Given the description of an element on the screen output the (x, y) to click on. 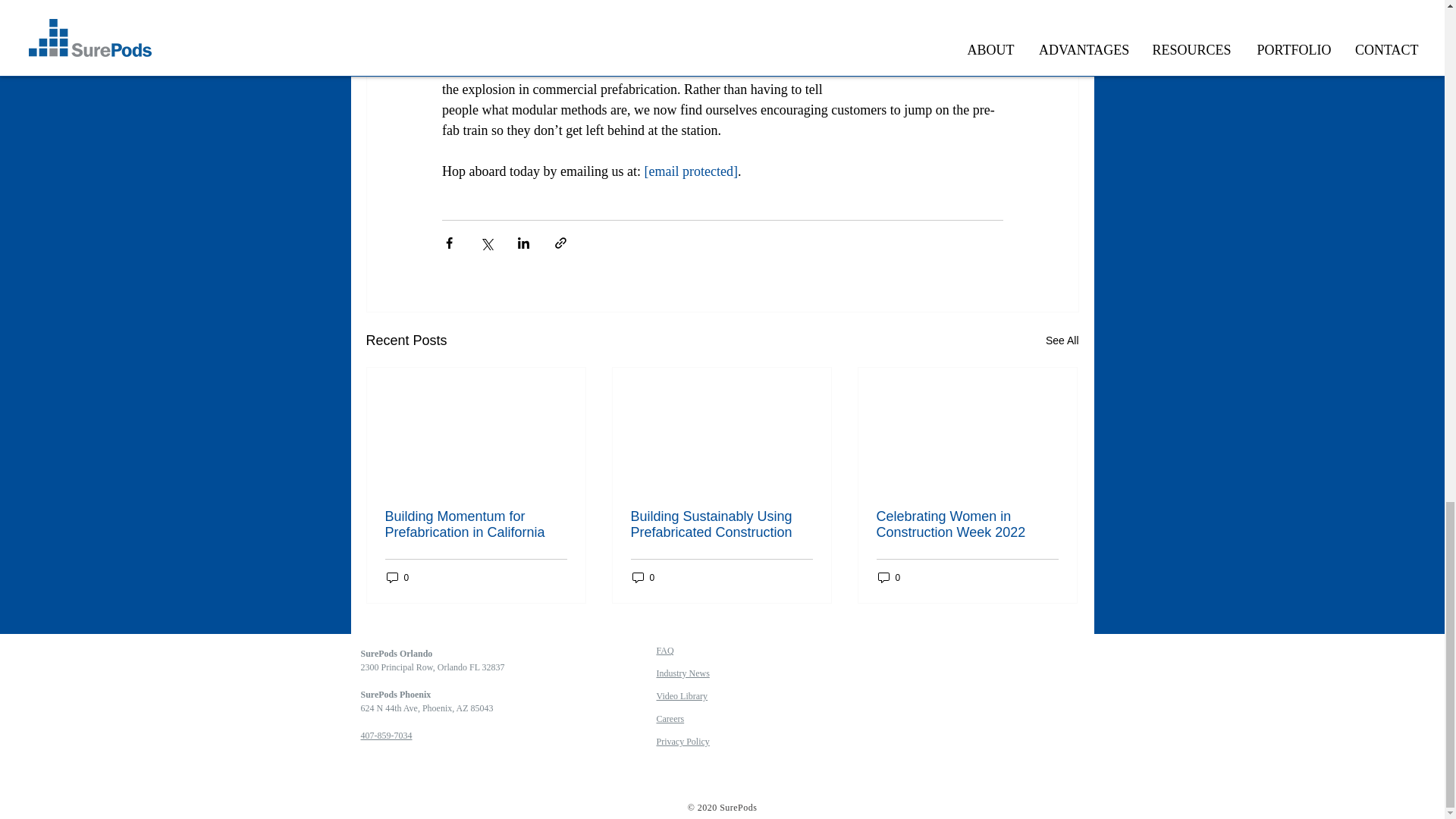
0 (643, 577)
Building Momentum for Prefabrication in California (476, 524)
0 (397, 577)
Building Sustainably Using Prefabricated Construction (721, 524)
See All (1061, 341)
